Given the description of an element on the screen output the (x, y) to click on. 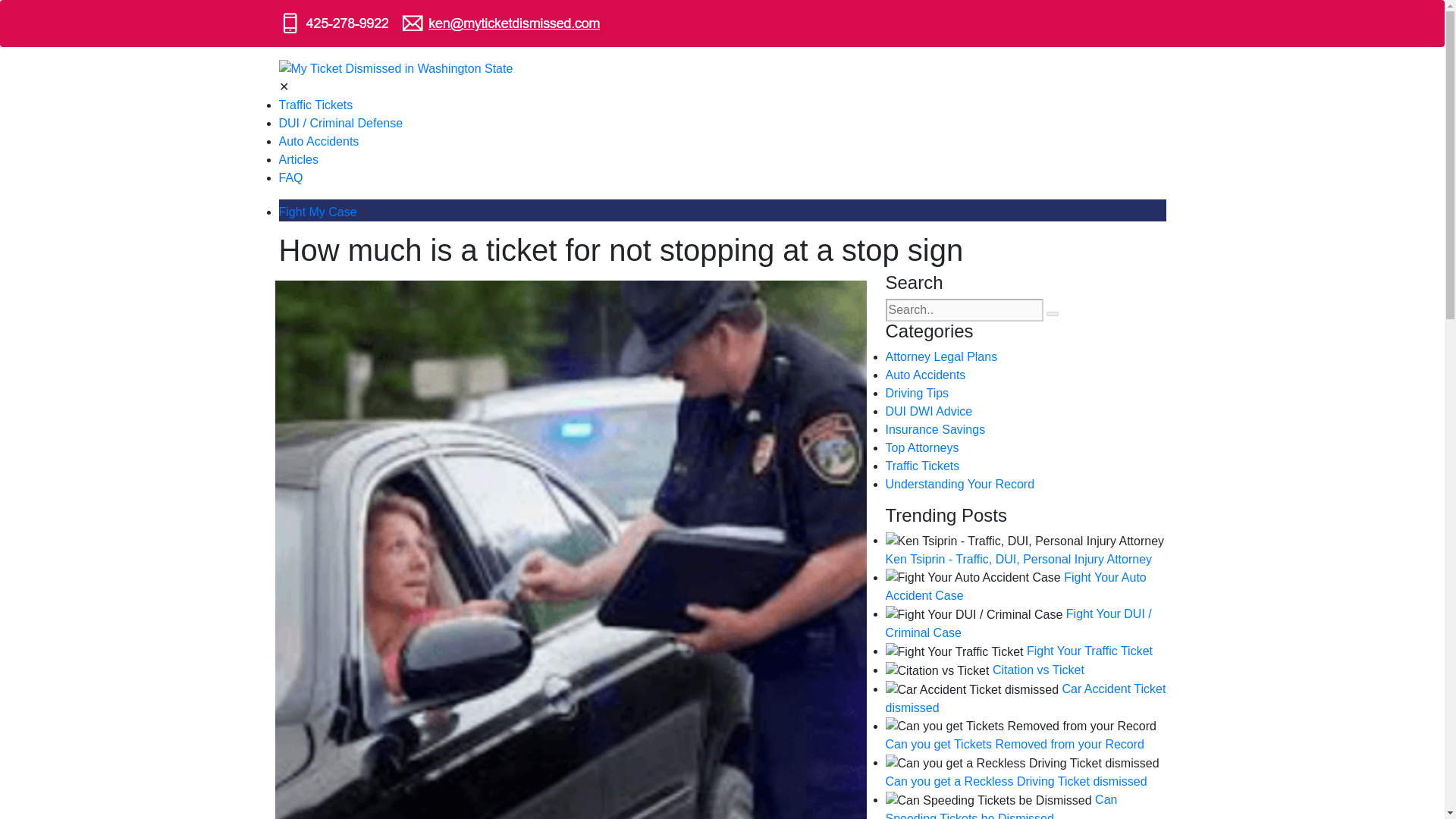
Can you get Tickets Removed from your Record (1014, 744)
Fight Your Traffic Ticket (1089, 650)
Auto Accidents (925, 374)
MyTicketDismissed.com - Frequently Asked Questions (290, 177)
Citation vs Ticket (1038, 669)
Can Speeding Tickets be Dismissed (1001, 806)
Fight Your Auto Accidents Case in Seattle, Everett, Kirkland (319, 141)
DUI DWI Advice (928, 410)
Ken Tsiprin - Traffic, DUI, Personal Injury Attorney (1019, 558)
Auto Accidents (319, 141)
Driving Tips (917, 392)
Attorney Legal Plans (941, 356)
Traffic Tickets (922, 465)
Fight Your Auto Accident Case (1016, 586)
Insurance Savings (935, 429)
